Given the description of an element on the screen output the (x, y) to click on. 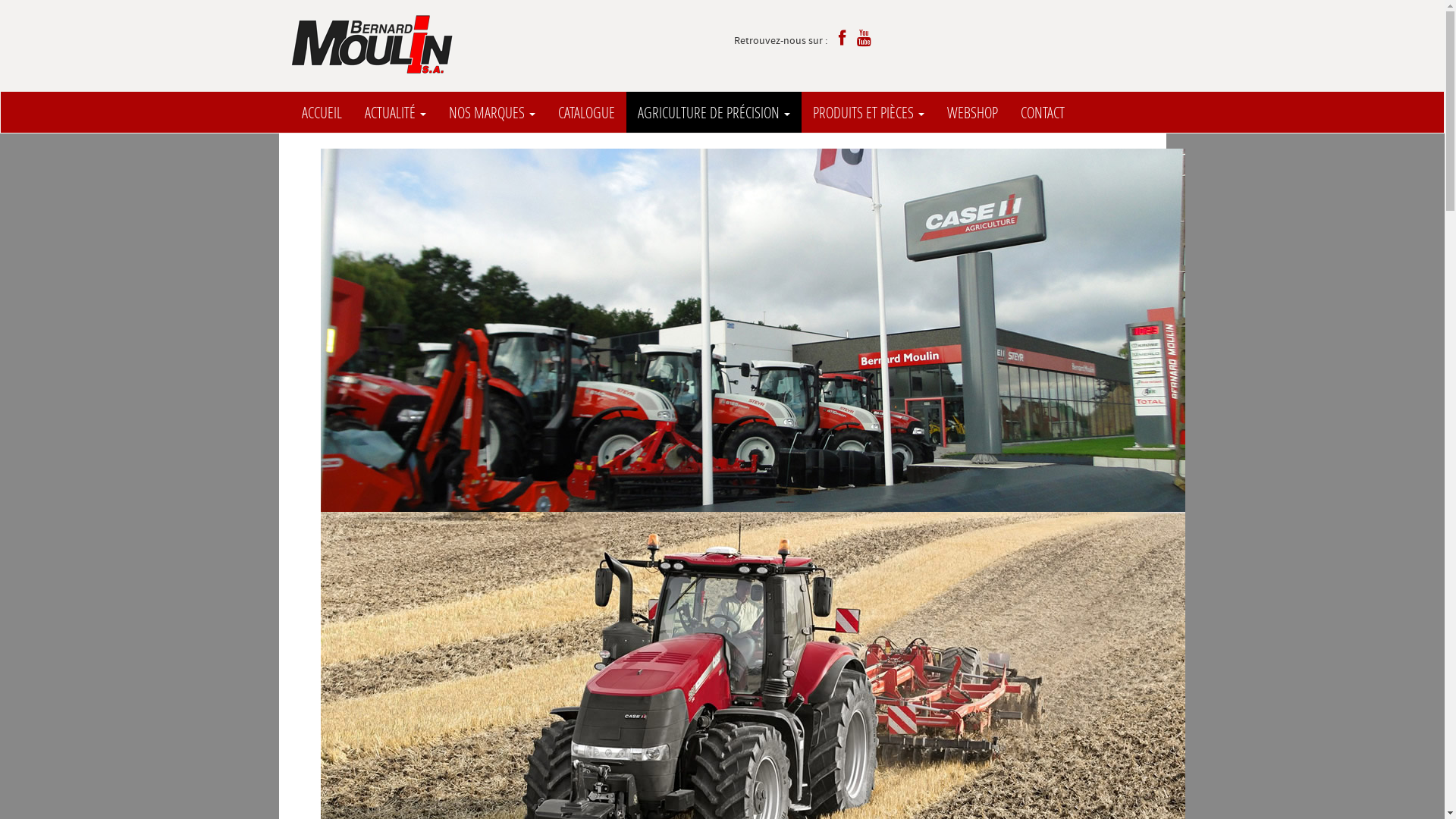
ACCUEIL Element type: text (320, 111)
WEBSHOP Element type: text (972, 111)
CATALOGUE Element type: text (585, 111)
NOS MARQUES Element type: text (491, 111)
CONTACT Element type: text (1041, 111)
